Given the description of an element on the screen output the (x, y) to click on. 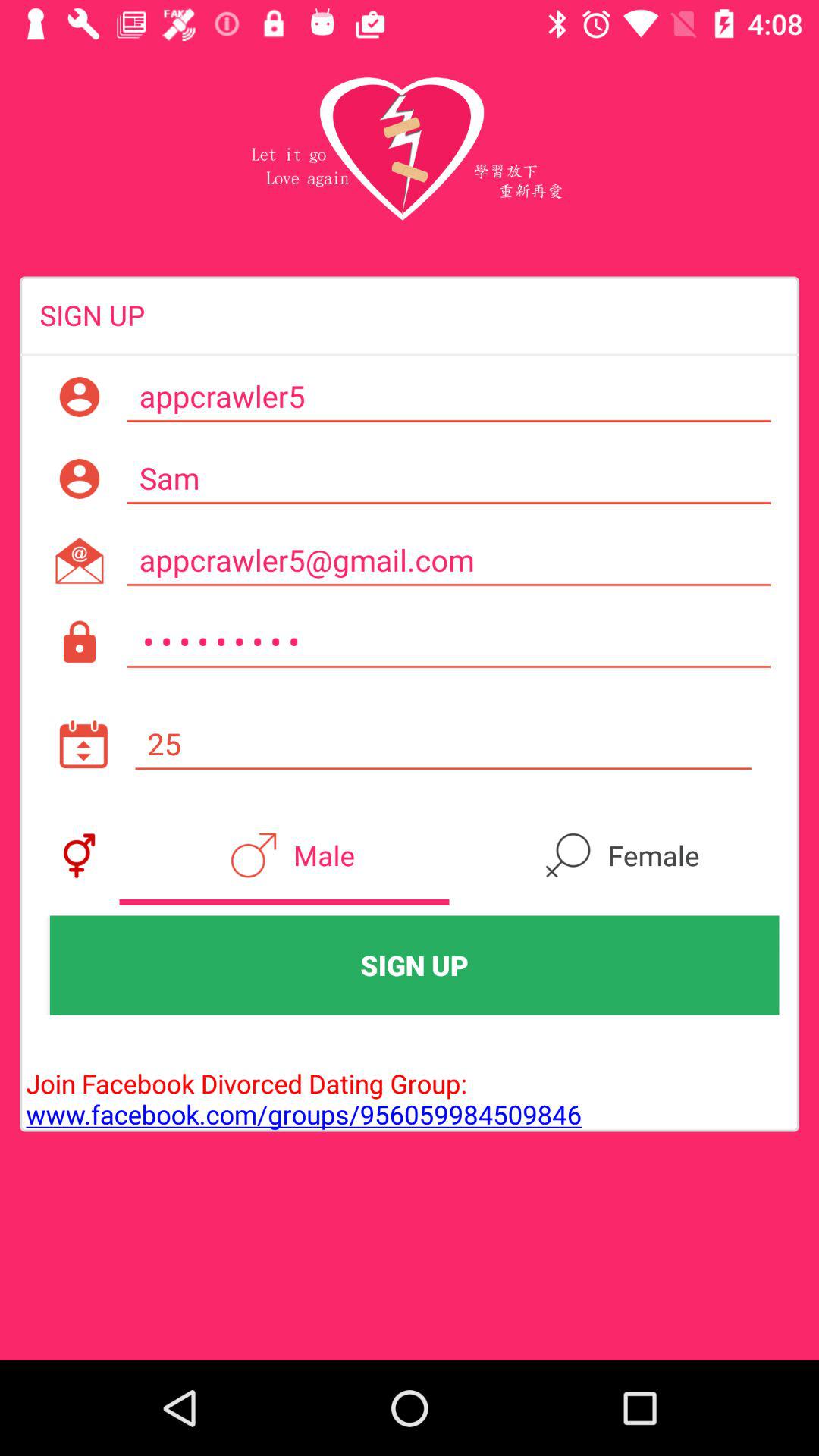
launch crowd3116 icon (449, 642)
